Given the description of an element on the screen output the (x, y) to click on. 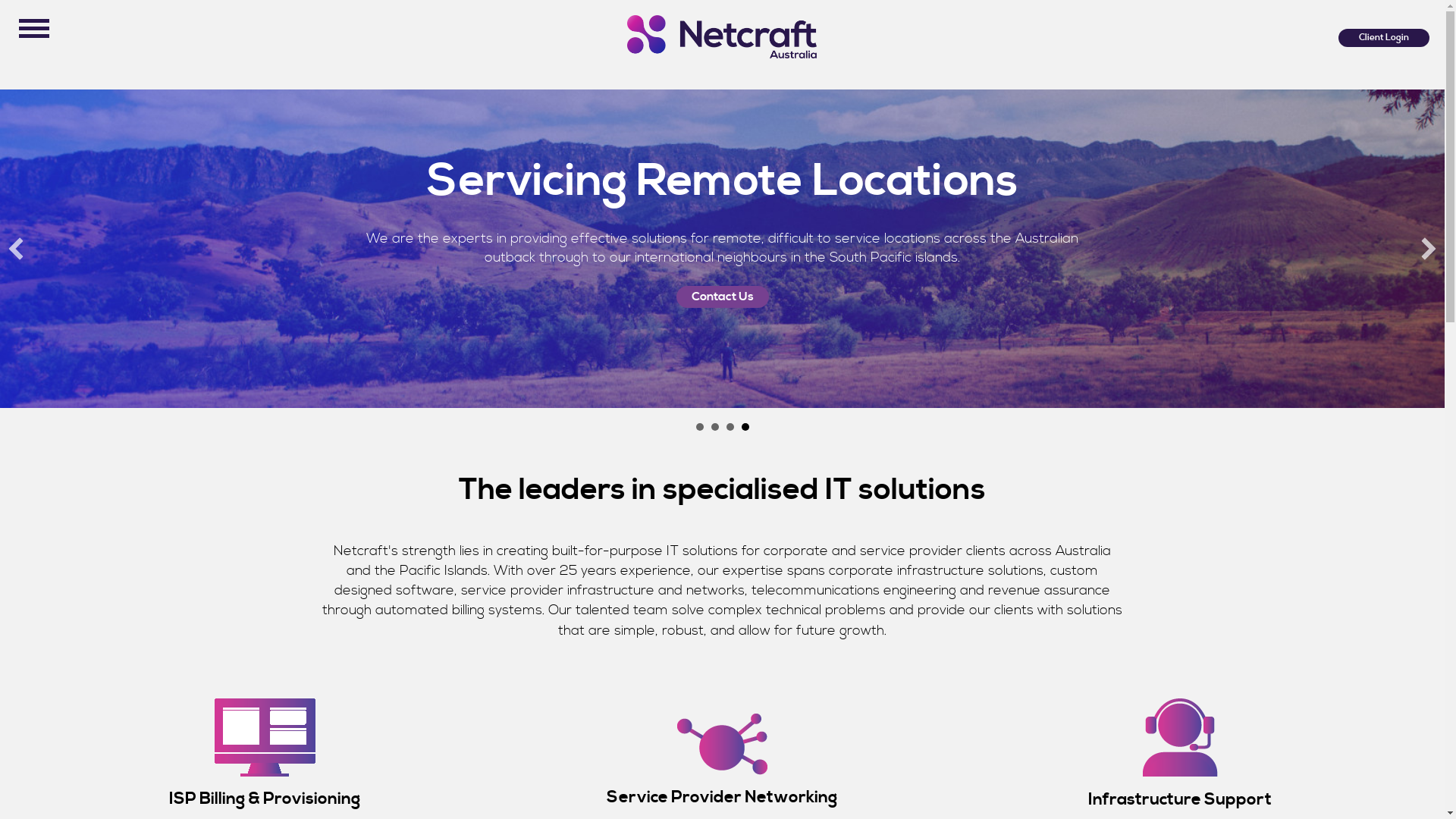
Client Login Element type: text (1383, 37)
1 Element type: text (699, 426)
new-netcraft-logo-medium Element type: hover (721, 36)
SPN ICON Element type: hover (722, 744)
icon Element type: hover (264, 737)
4 Element type: text (745, 426)
3 Element type: text (730, 426)
Infrastructure Support Element type: text (1179, 799)
2 Element type: text (714, 426)
IS ICON Element type: hover (1179, 737)
Contact Us Element type: text (722, 296)
ISP Billing & Provisioning Element type: text (264, 798)
Service Provider Networking Element type: text (721, 797)
